Given the description of an element on the screen output the (x, y) to click on. 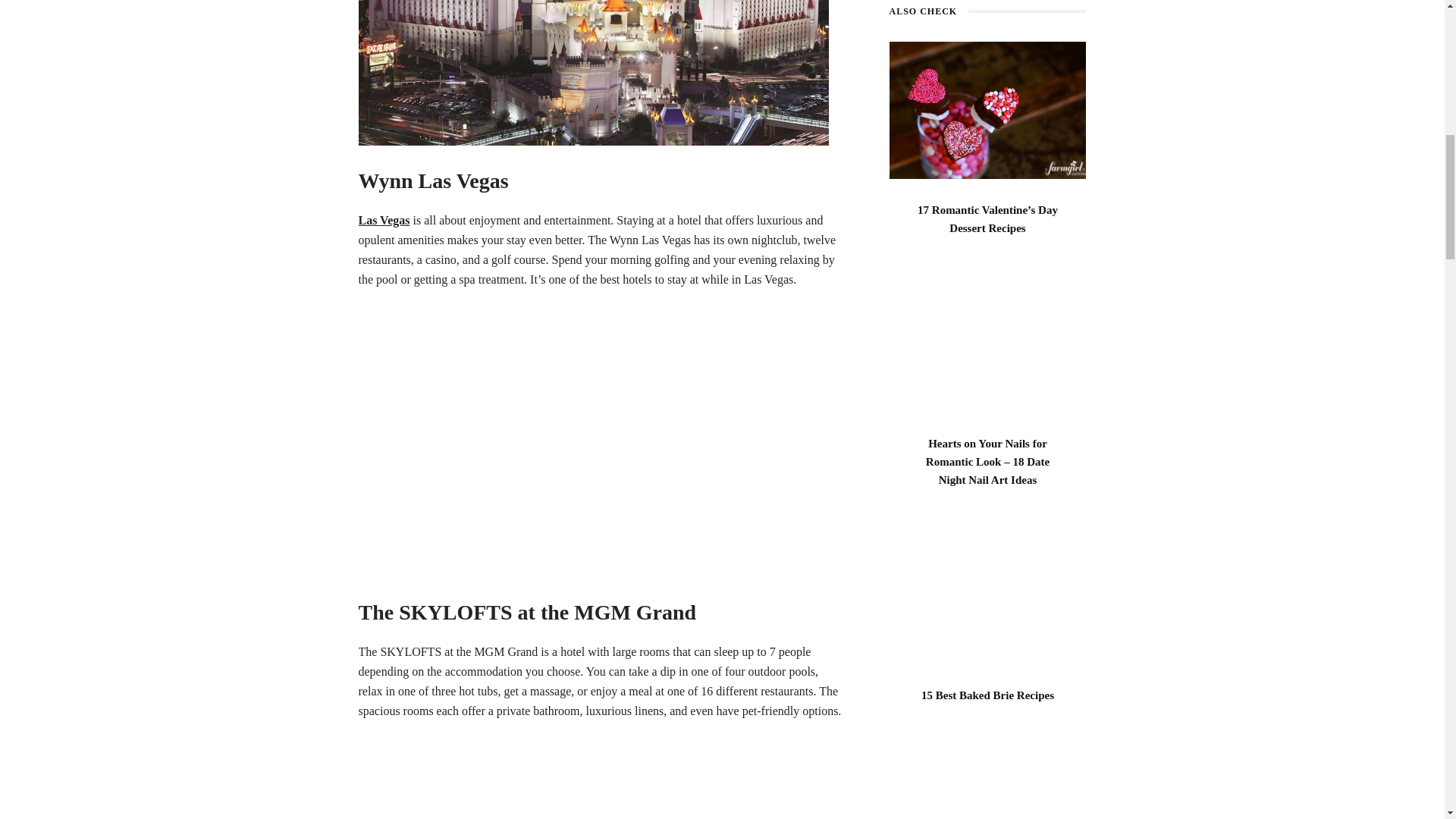
Las Vegas (383, 219)
The Best Hotels to Stay at While in Las Vegas (600, 781)
The Best Hotels to Stay at While in Las Vegas (600, 444)
The Best Hotels to Stay at While in Las Vegas (593, 72)
